Given the description of an element on the screen output the (x, y) to click on. 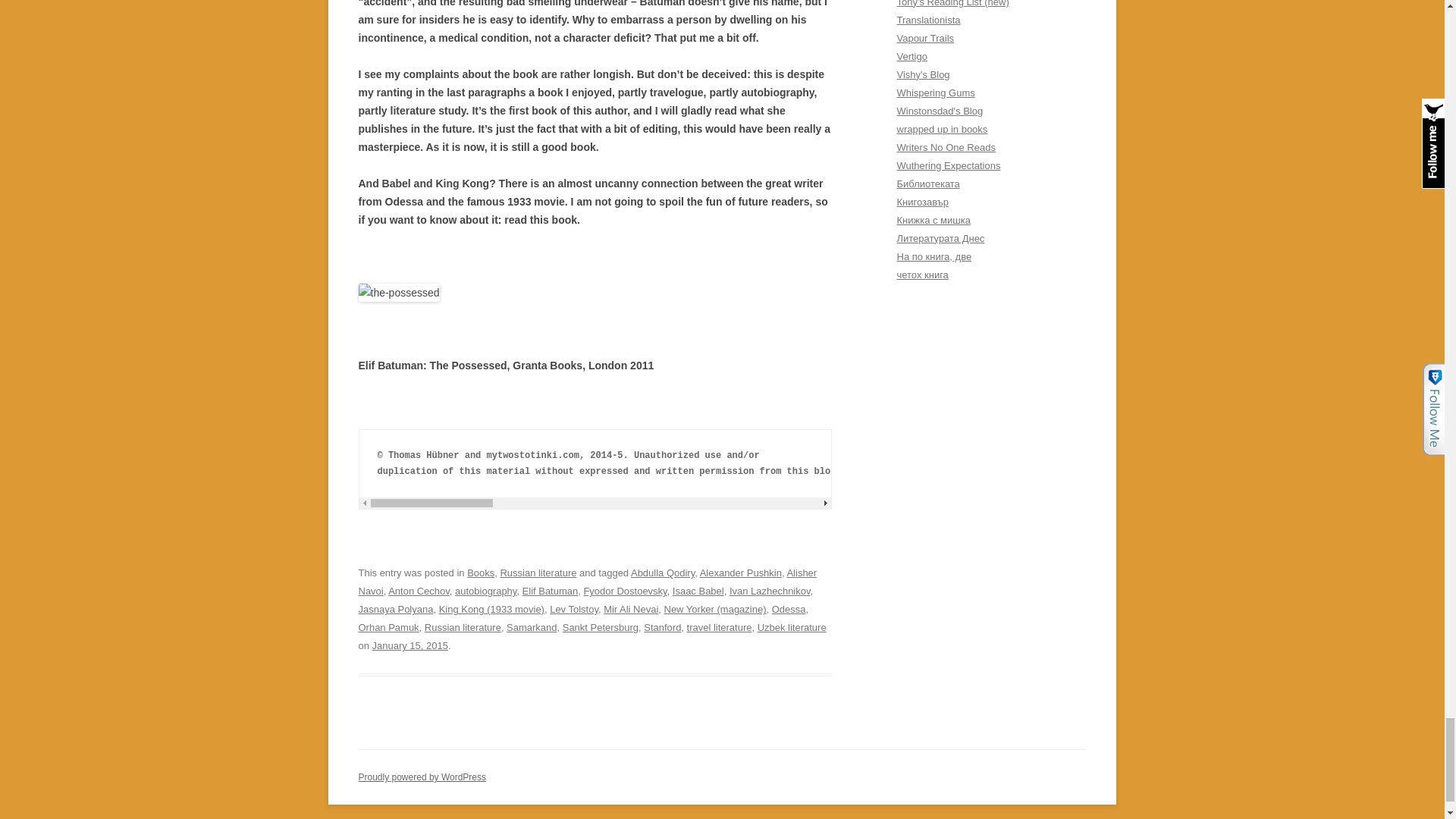
6:18 pm (410, 645)
Semantic Personal Publishing Platform (422, 777)
